Given the description of an element on the screen output the (x, y) to click on. 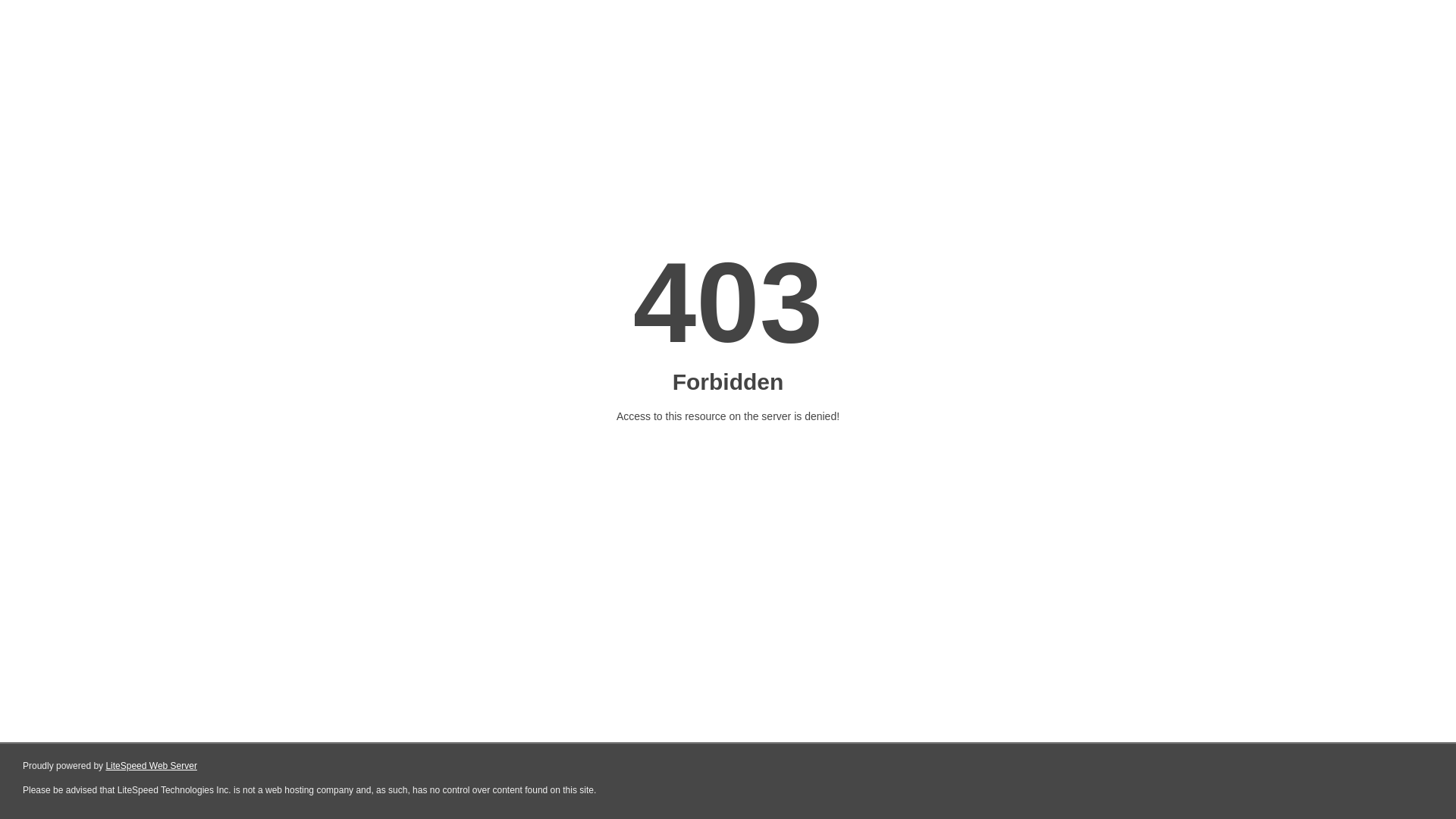
LiteSpeed Web Server (150, 765)
